Given the description of an element on the screen output the (x, y) to click on. 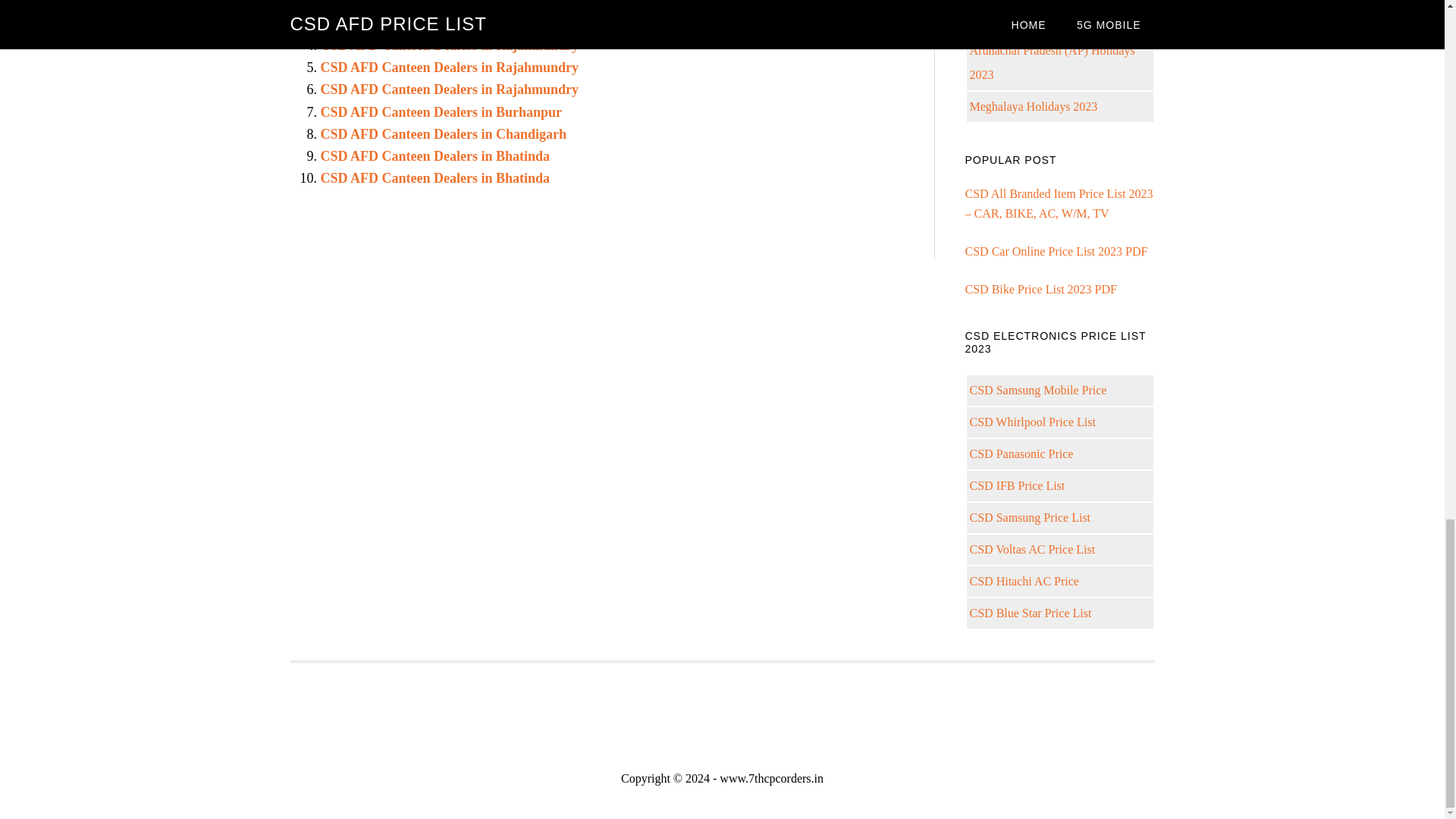
CSD AFD Canteen Dealers in Bhatinda (435, 177)
CSD AFD Canteen Dealers in Rajahmundry (449, 67)
CSD AFD Canteen Dealers in Rajahmundry (449, 4)
CSD AFD Canteen Dealers in Chandigarh (443, 133)
CSD AFD Canteen Dealers in Rajahmundry (449, 89)
CSD AFD Canteen Dealers in Rajahmundry (449, 45)
CSD AFD Canteen Dealers in Bhatinda (435, 155)
CSD AFD Canteen Dealers in Rajahmundry (449, 45)
CSD AFD Canteen Dealers in Chandigarh (443, 133)
CSD AFD Canteen Dealers in Burhanpur (441, 111)
